Given the description of an element on the screen output the (x, y) to click on. 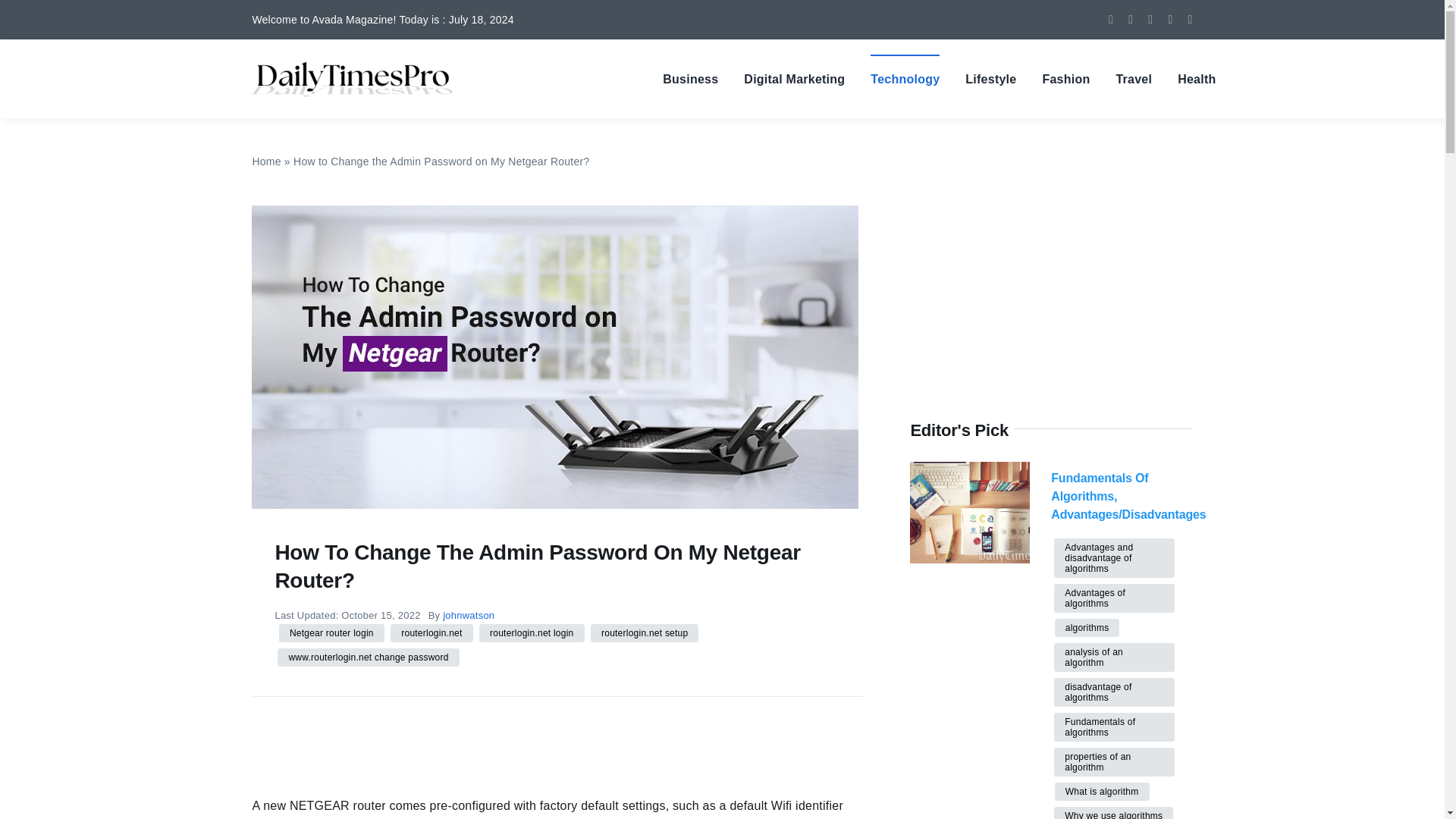
routerlogin.net (430, 633)
Business (689, 78)
Advantages of algorithms (1114, 597)
Fundamentals of algorithms (1114, 727)
analysis of an algorithm (1114, 656)
johnwatson (468, 614)
disadvantage of algorithms (1114, 692)
algorithms (1086, 628)
Advertisement (527, 715)
routerlogin.net login (531, 633)
Lifestyle (990, 78)
Technology (904, 78)
routerlogin.net setup (644, 633)
Why we use algorithms (1113, 812)
properties of an algorithm (1114, 761)
